Given the description of an element on the screen output the (x, y) to click on. 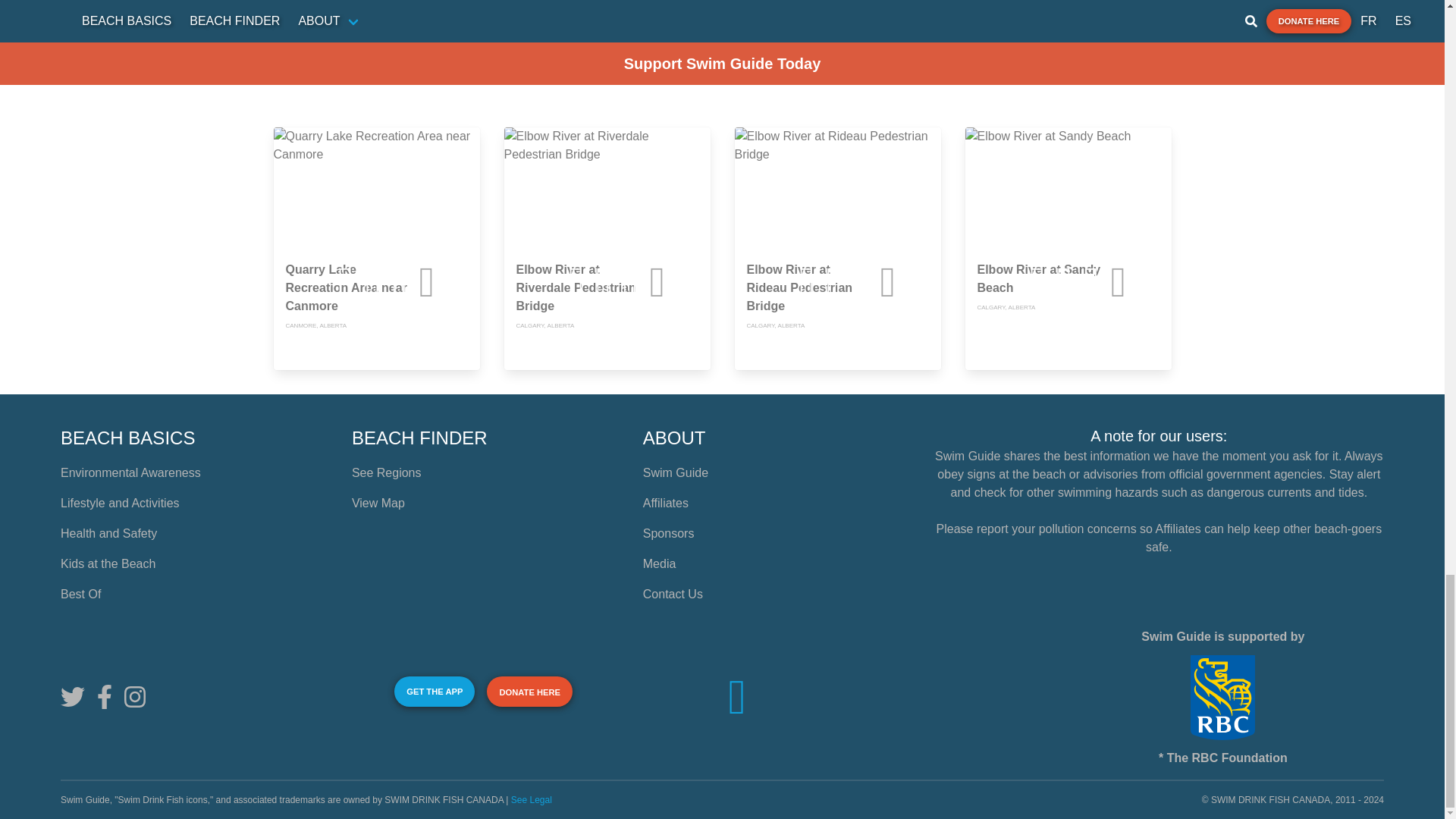
no data (919, 281)
Environmental Awareness (130, 472)
no data (1150, 281)
Kids at the Beach (108, 563)
Lifestyle and Activities (120, 502)
no data (459, 281)
Best Of (80, 594)
no data (689, 281)
See Regions (387, 472)
View Map (378, 502)
Health and Safety (109, 533)
SEE ALL (1142, 74)
